Given the description of an element on the screen output the (x, y) to click on. 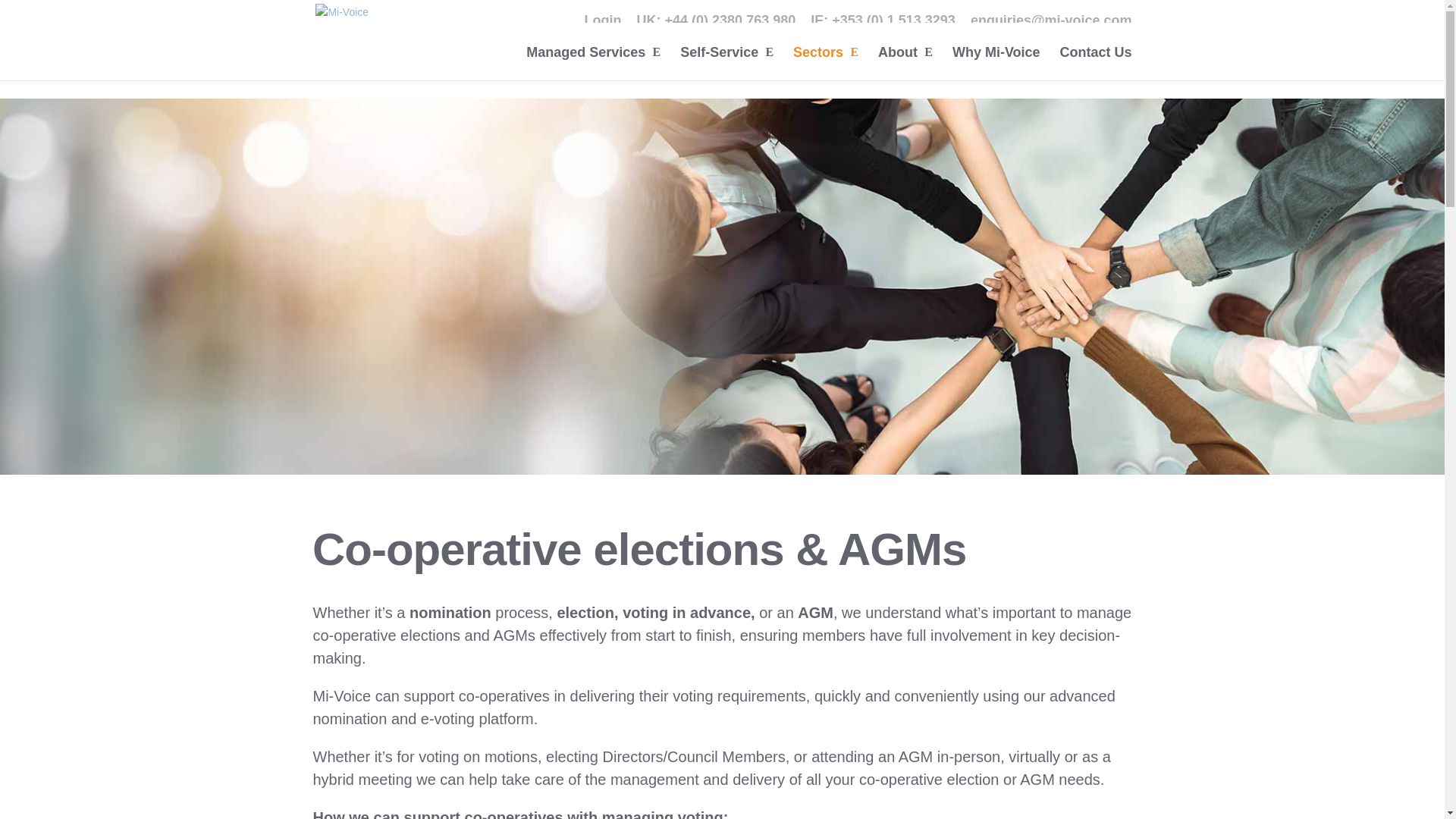
Sectors (826, 63)
Managed Services (593, 63)
Login (603, 25)
Self-Service (726, 63)
